Given the description of an element on the screen output the (x, y) to click on. 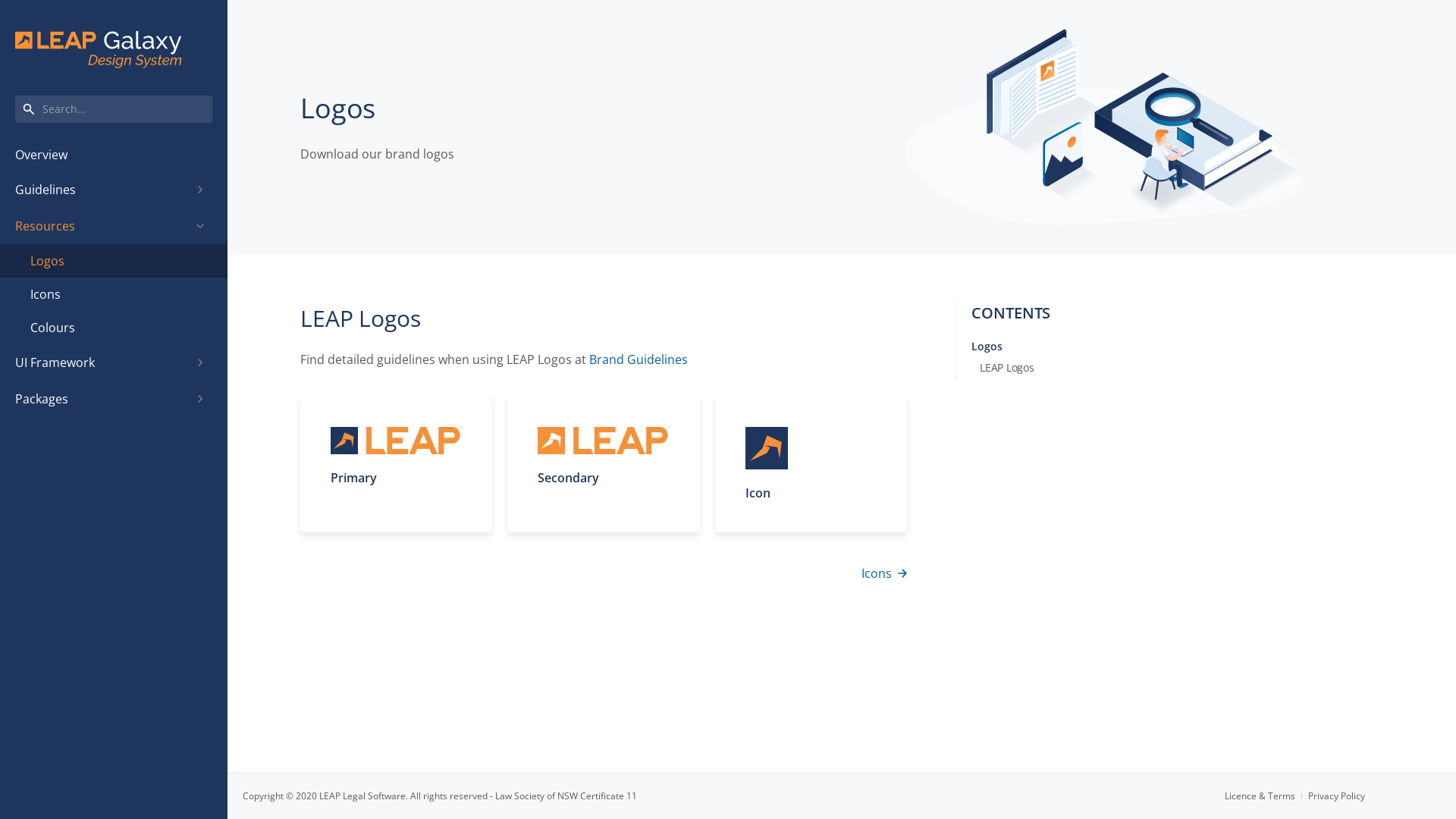
Resources Element type: text (101, 225)
Brand Guidelines Element type: text (638, 359)
Icons Element type: text (113, 293)
Primary Element type: text (396, 462)
LEAP Logos Element type: text (994, 367)
Packages Element type: text (101, 398)
Icon Element type: text (810, 462)
Guidelines Element type: text (101, 189)
Logos Element type: text (113, 260)
Colours Element type: text (113, 327)
UI Framework Element type: text (101, 362)
Icons Element type: text (883, 572)
Overview Element type: text (113, 154)
Secondary Element type: text (603, 462)
Licence & Terms Element type: text (1266, 795)
Privacy Policy Element type: text (1336, 795)
